Given the description of an element on the screen output the (x, y) to click on. 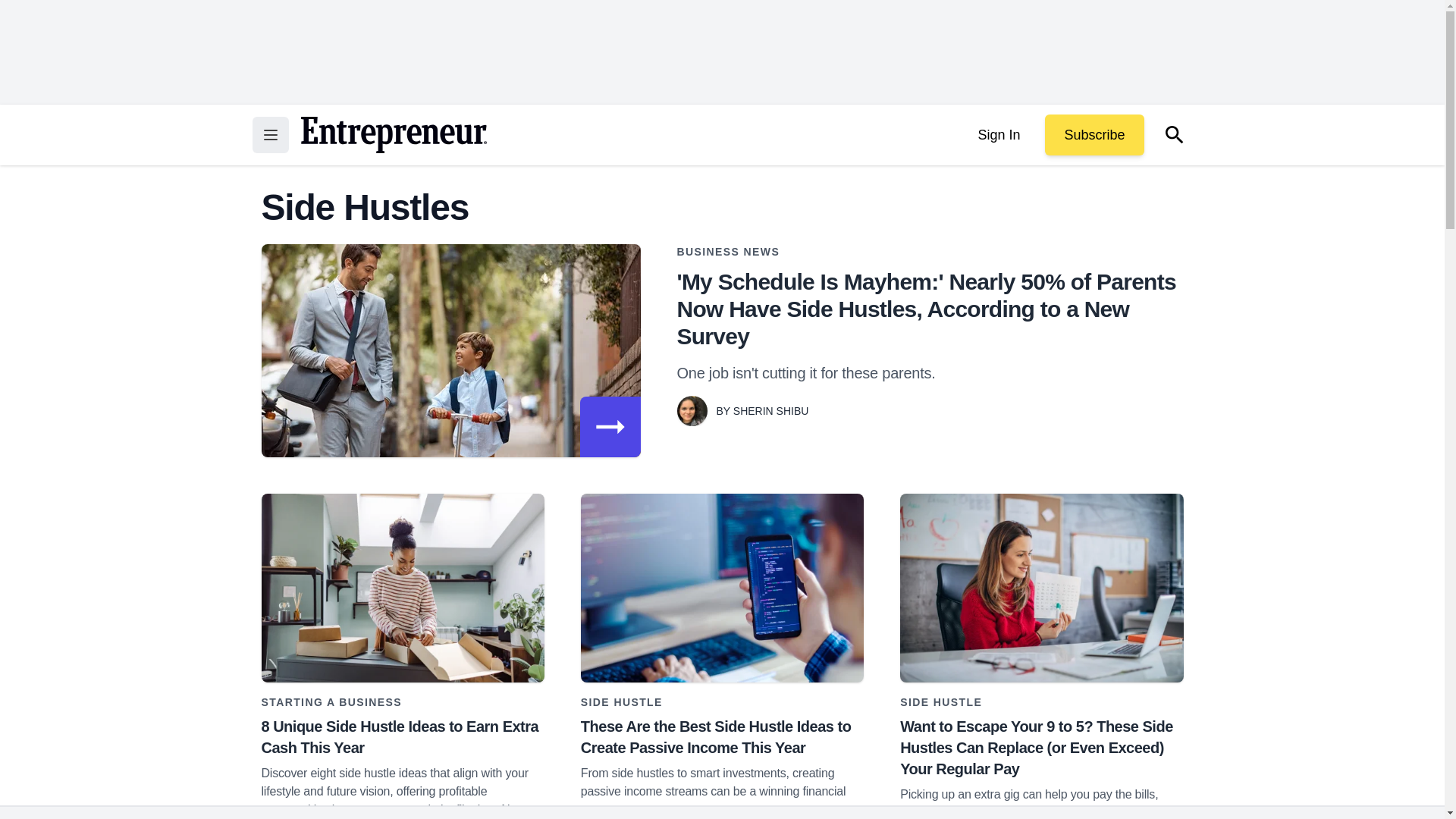
Subscribe (1093, 134)
Return to the home page (392, 135)
Sign In (998, 134)
